Given the description of an element on the screen output the (x, y) to click on. 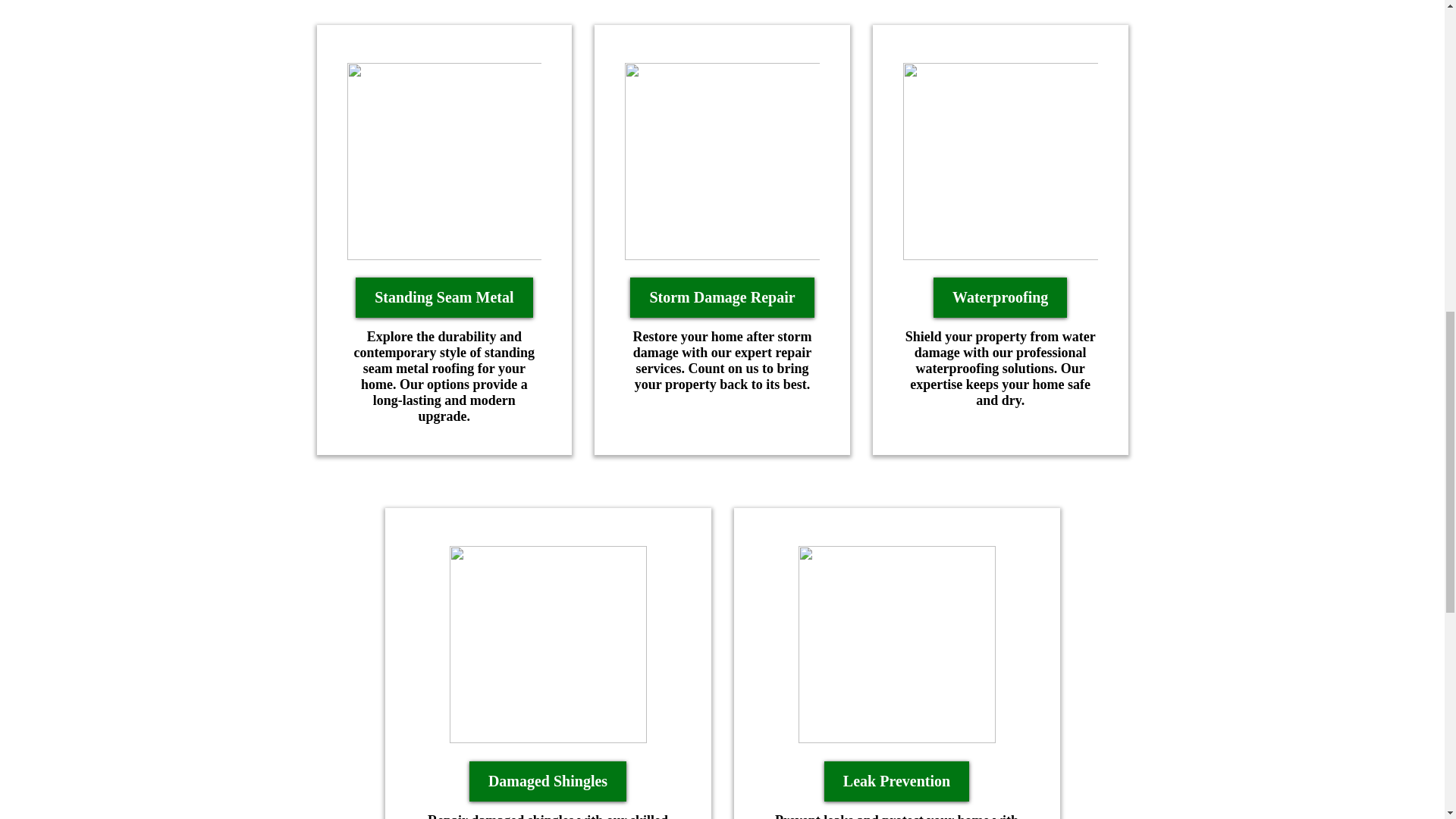
Waterproofing (1000, 297)
Storm Damage Repair (721, 297)
Leak Prevention (896, 781)
Standing Seam Metal (443, 297)
Damaged Shingles (547, 781)
